Given the description of an element on the screen output the (x, y) to click on. 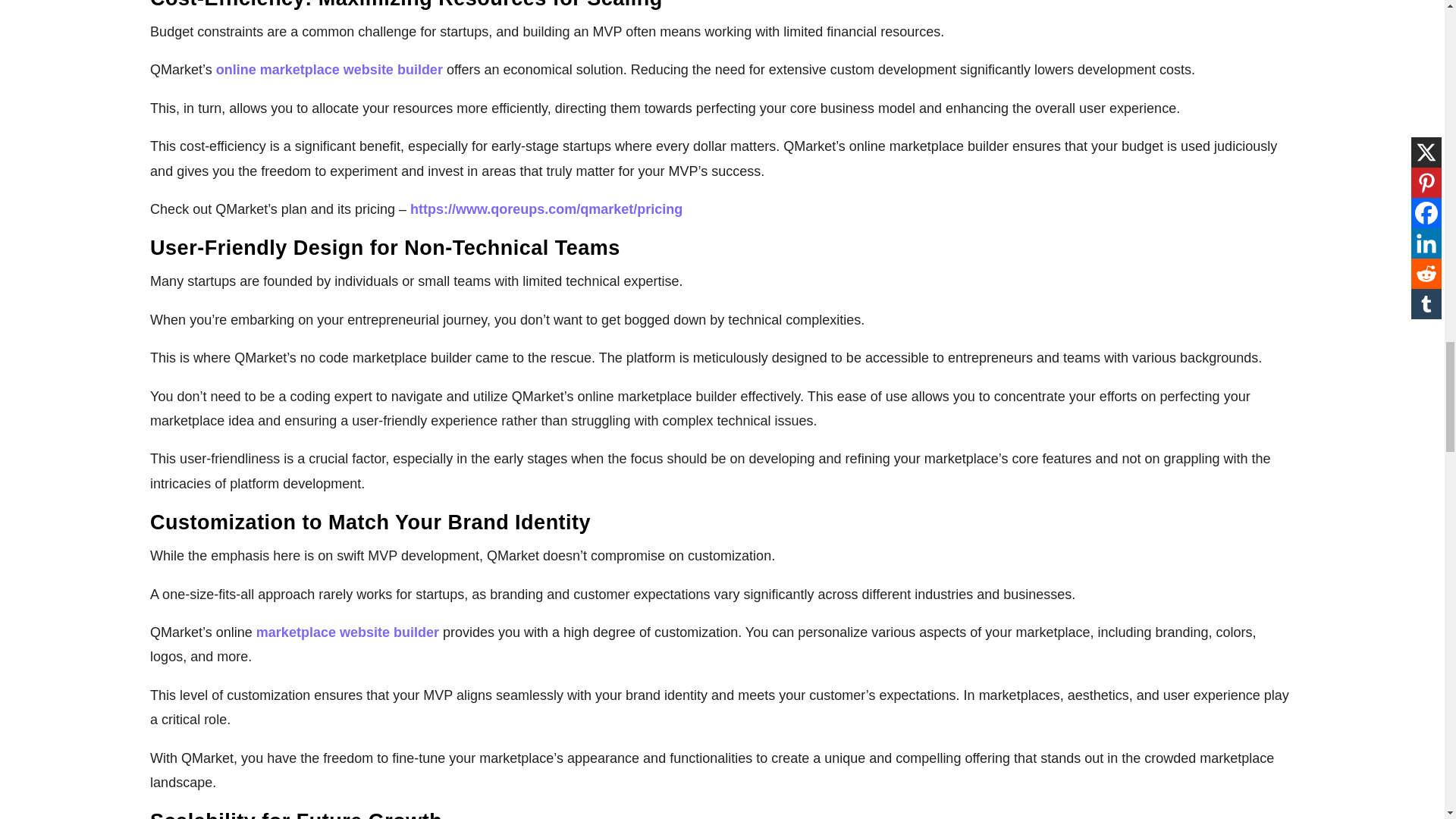
marketplace website builder (347, 631)
online marketplace website builder (328, 69)
